Given the description of an element on the screen output the (x, y) to click on. 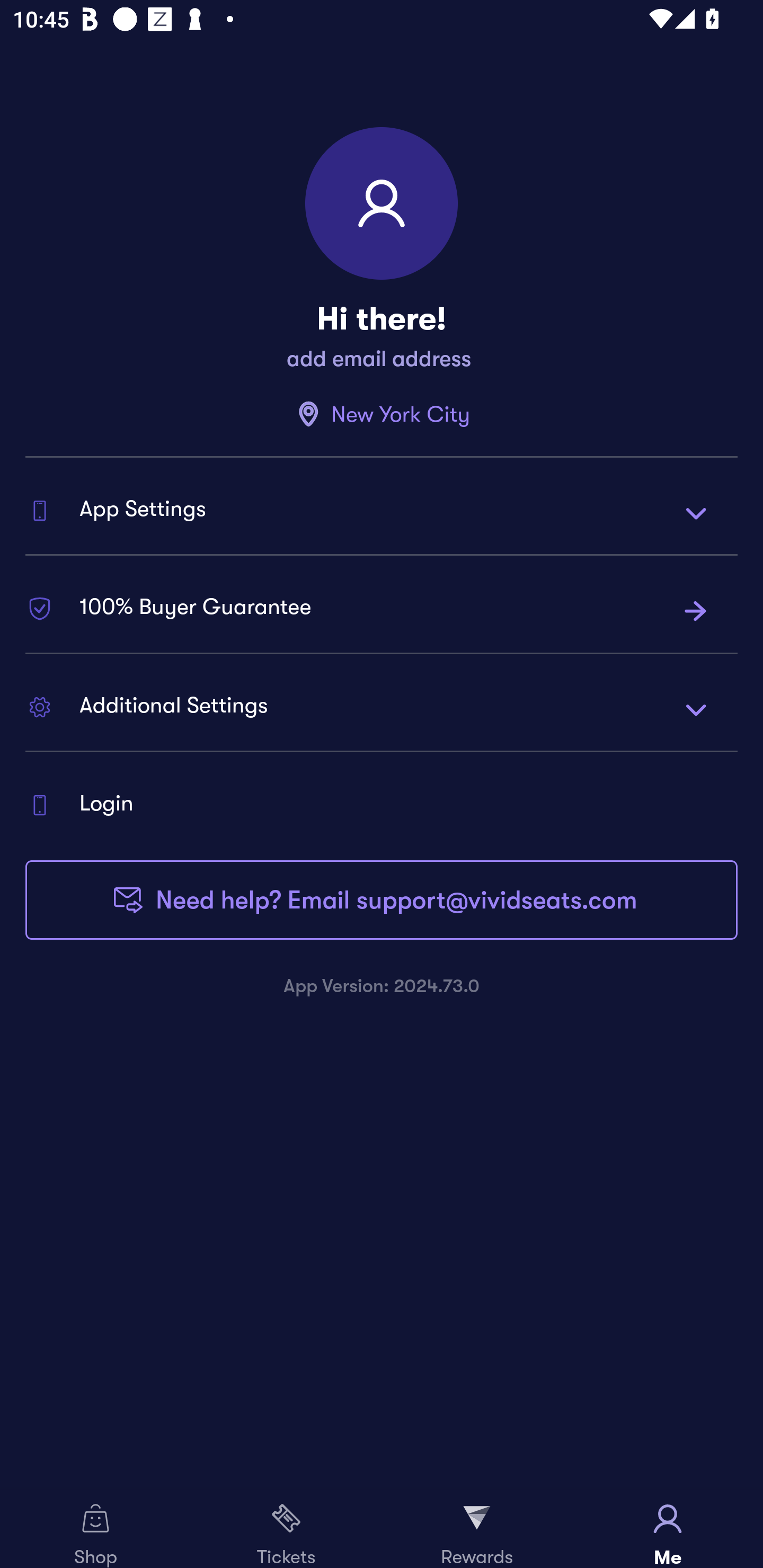
New York City (381, 413)
App Settings  (381, 511)
100% Buyer Guarantee (381, 609)
Additional Settings  (381, 708)
Login (381, 805)
Need help? Email support@vividseats.com (381, 899)
App Version: 2024.73.0 (381, 985)
Shop (95, 1529)
Tickets (285, 1529)
Rewards (476, 1529)
Me (667, 1529)
